Given the description of an element on the screen output the (x, y) to click on. 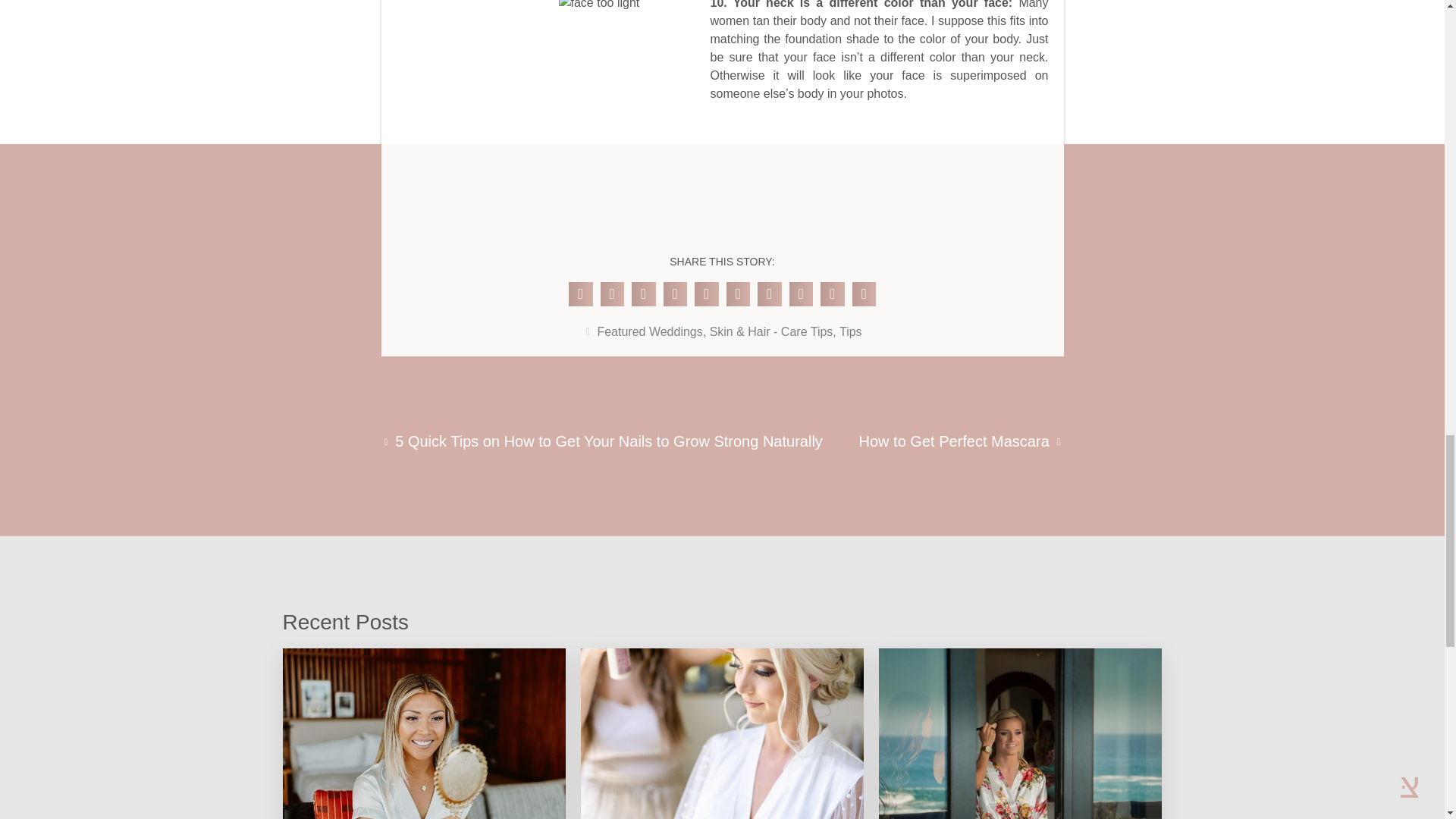
Featured Weddings (648, 331)
How to Get Perfect Mascara (960, 441)
Tips (850, 331)
